Given the description of an element on the screen output the (x, y) to click on. 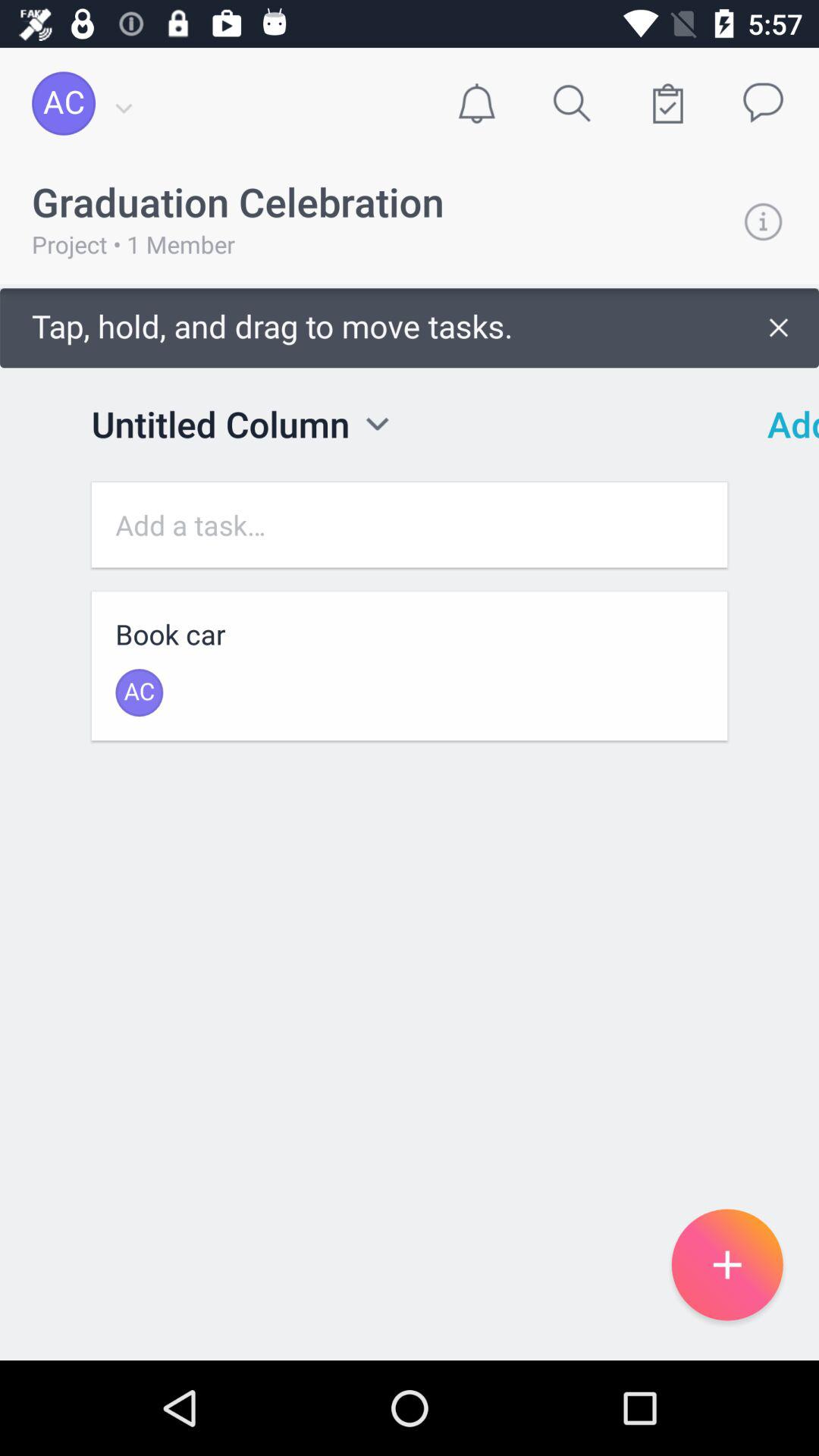
enter task name (409, 524)
